Given the description of an element on the screen output the (x, y) to click on. 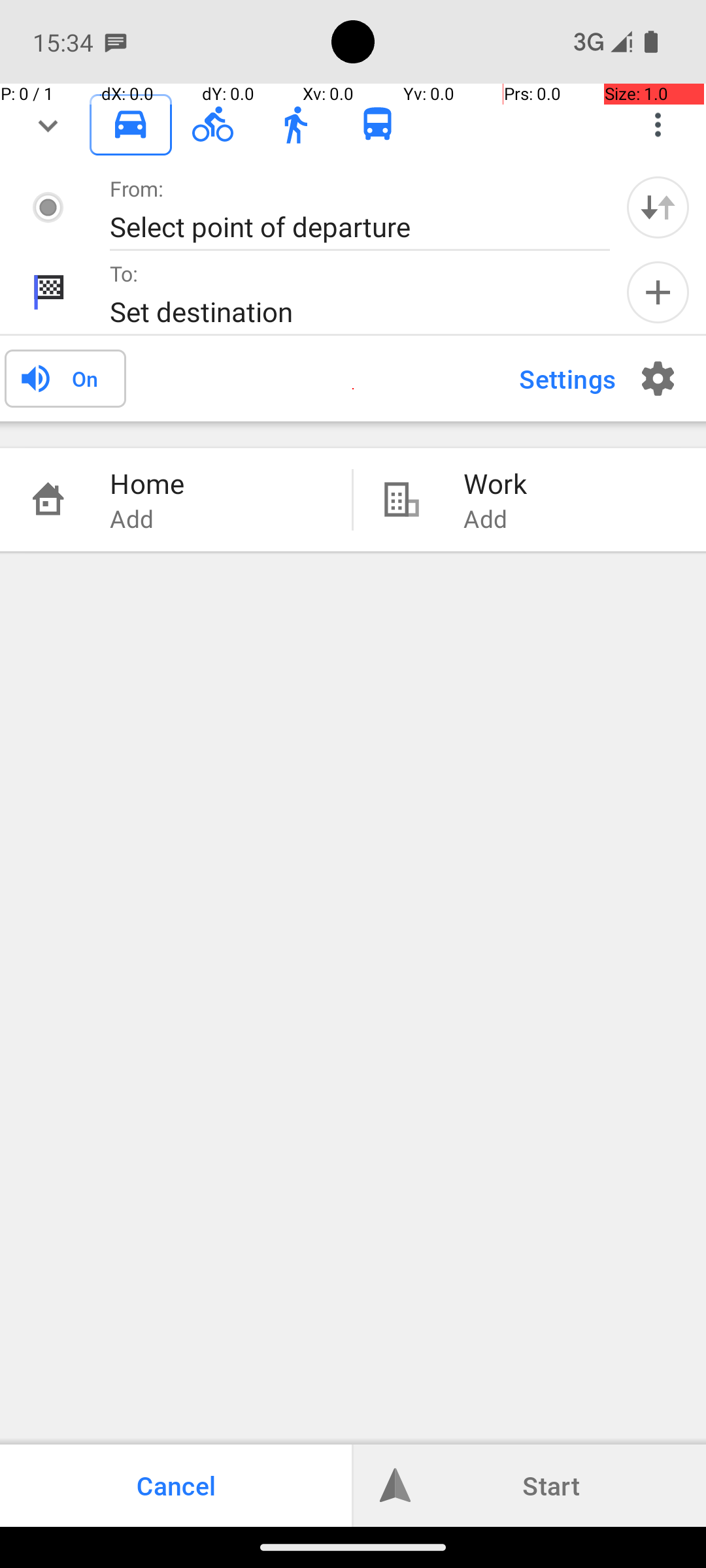
fold/unfold Element type: android.widget.ImageView (48, 124)
Choose app modes Element type: android.widget.ImageView (657, 124)
From: Element type: android.widget.TextView (136, 188)
Select point of departure Element type: android.widget.TextView (345, 226)
Swap Element type: android.widget.FrameLayout (657, 207)
To: Element type: android.widget.TextView (123, 273)
Set destination Element type: android.widget.TextView (345, 310)
Driving checked Element type: android.widget.ImageView (130, 124)
Cycling unchecked Element type: android.widget.ImageView (212, 124)
On Element type: android.widget.TextView (84, 378)
